Given the description of an element on the screen output the (x, y) to click on. 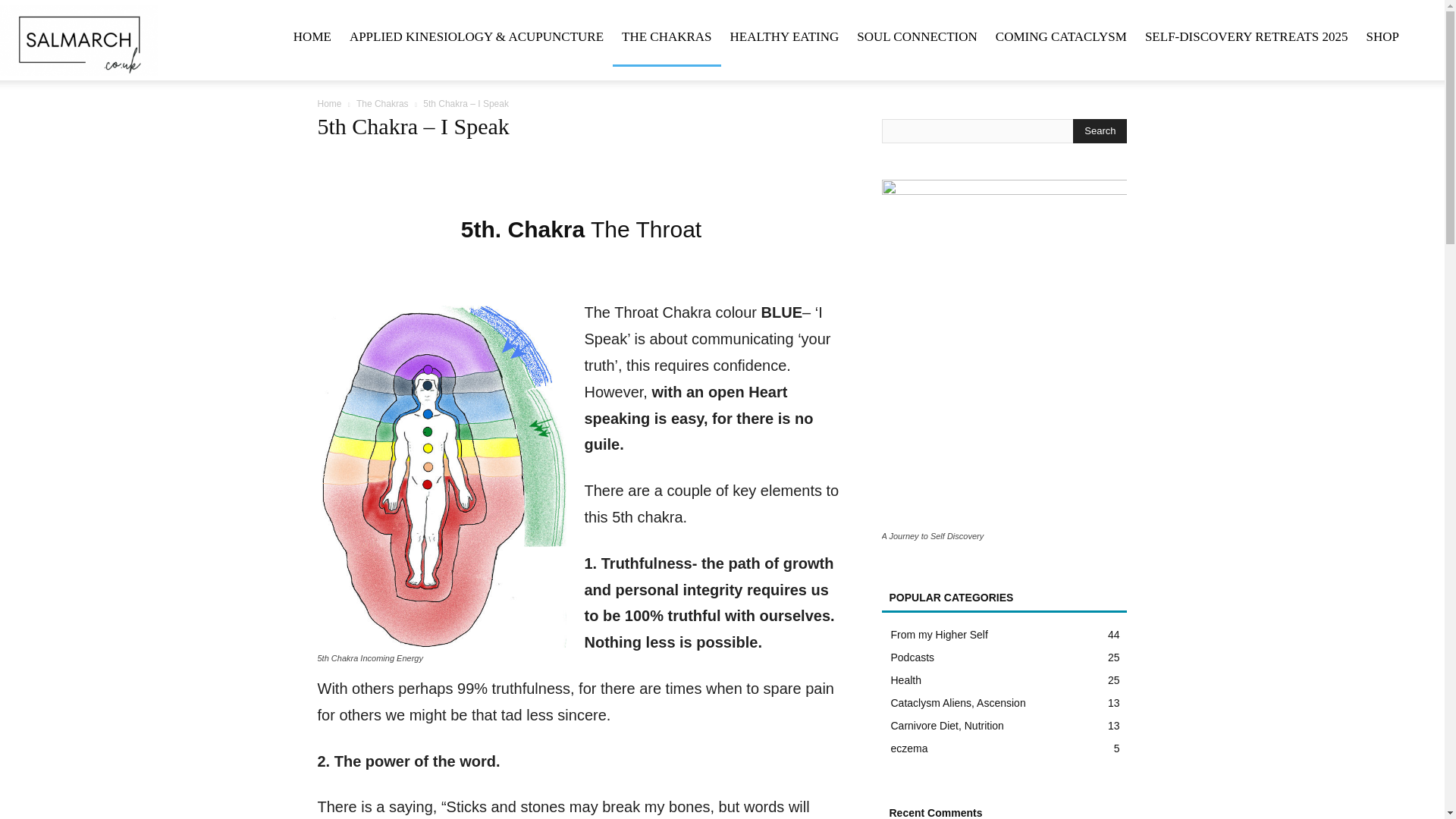
SALMARCH.co.uk (79, 40)
The Chakras (382, 103)
Search (1099, 130)
